Given the description of an element on the screen output the (x, y) to click on. 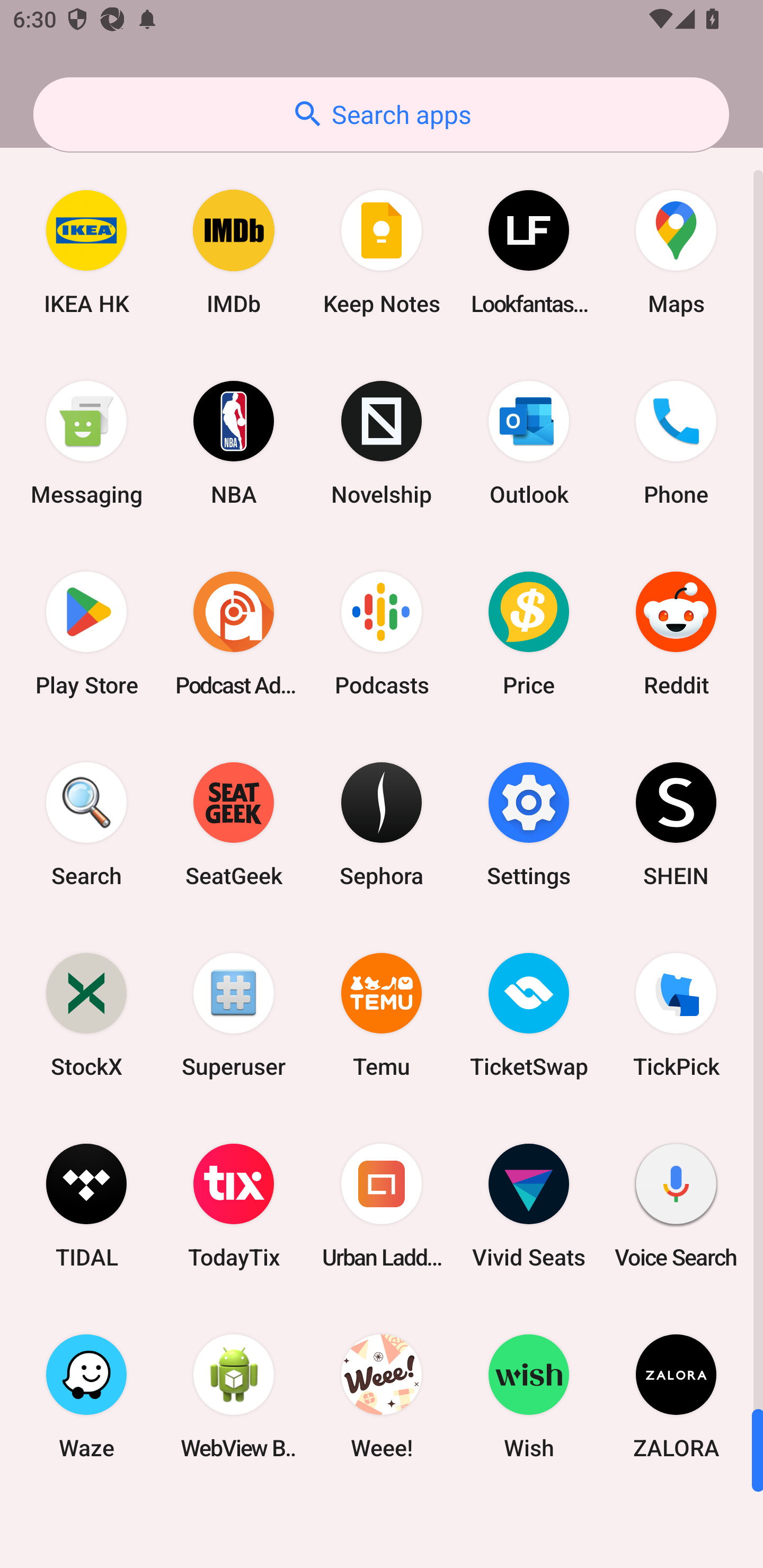
  Search apps (381, 114)
IKEA HK (86, 252)
IMDb (233, 252)
Keep Notes (381, 252)
Lookfantastic (528, 252)
Maps (676, 252)
Messaging (86, 442)
NBA (233, 442)
Novelship (381, 442)
Outlook (528, 442)
Phone (676, 442)
Play Store (86, 633)
Podcast Addict (233, 633)
Podcasts (381, 633)
Price (528, 633)
Reddit (676, 633)
Search (86, 823)
SeatGeek (233, 823)
Sephora (381, 823)
Settings (528, 823)
SHEIN (676, 823)
StockX (86, 1014)
Superuser (233, 1014)
Temu (381, 1014)
TicketSwap (528, 1014)
TickPick (676, 1014)
TIDAL (86, 1205)
TodayTix (233, 1205)
Urban Ladder (381, 1205)
Vivid Seats (528, 1205)
Voice Search (676, 1205)
Waze (86, 1396)
WebView Browser Tester (233, 1396)
Weee! (381, 1396)
Wish (528, 1396)
ZALORA (676, 1396)
